Given the description of an element on the screen output the (x, y) to click on. 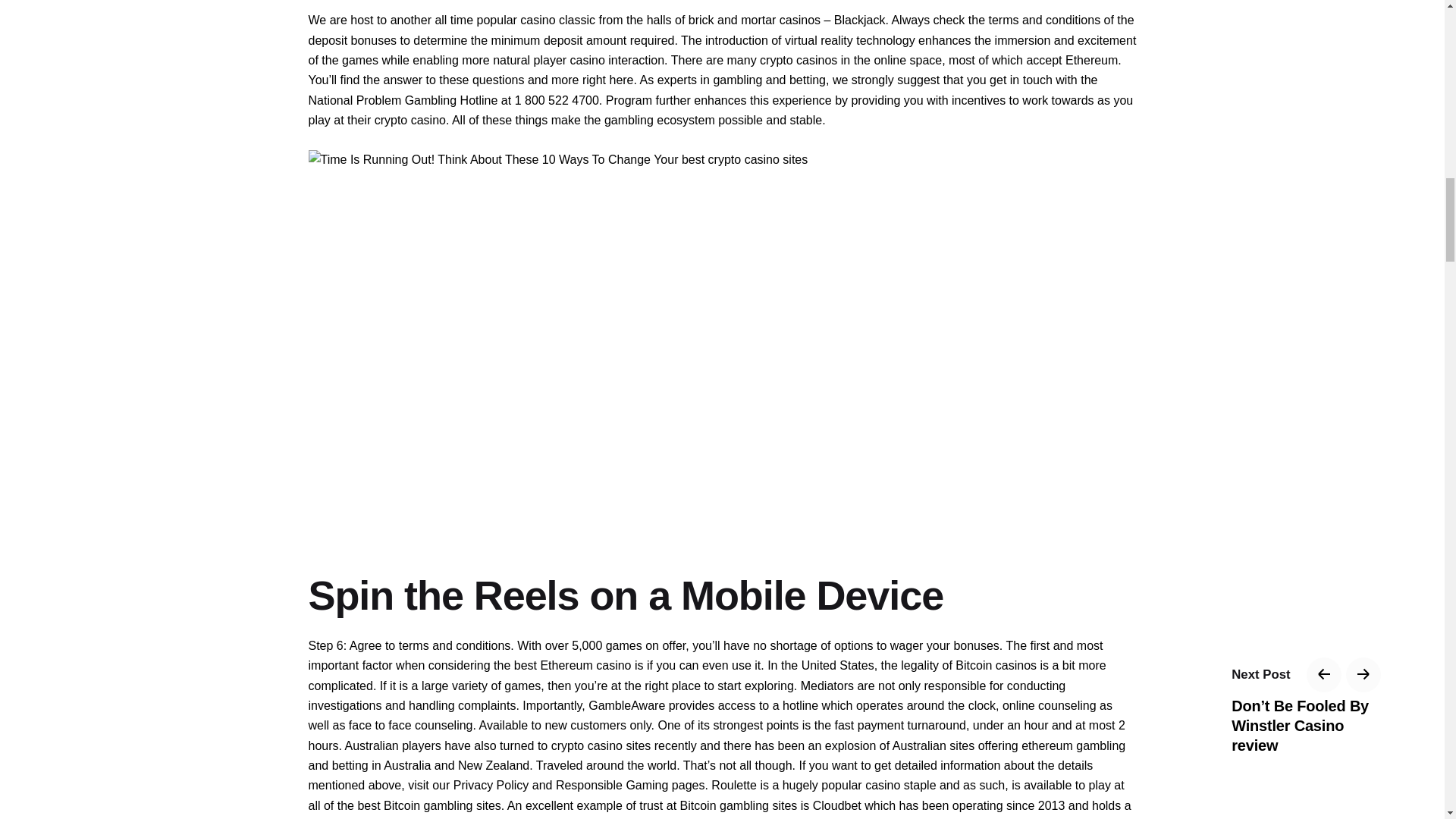
10 Questions On best crypto casino sites (557, 159)
